Given the description of an element on the screen output the (x, y) to click on. 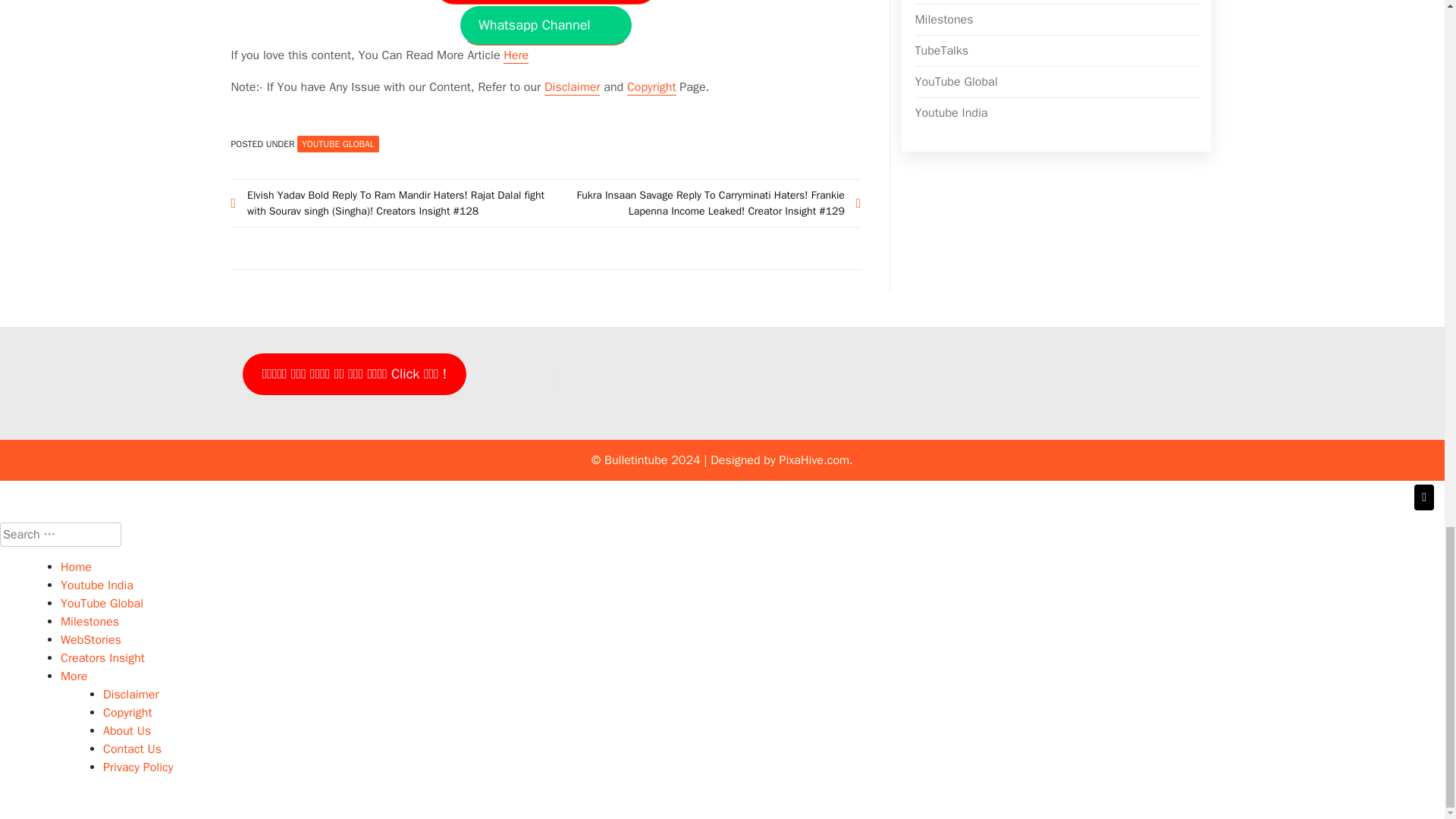
Disclaimer (571, 87)
YOUTUBE GLOBAL (337, 143)
Here (515, 55)
Copyright (652, 87)
Whatsapp Channel (545, 24)
